Given the description of an element on the screen output the (x, y) to click on. 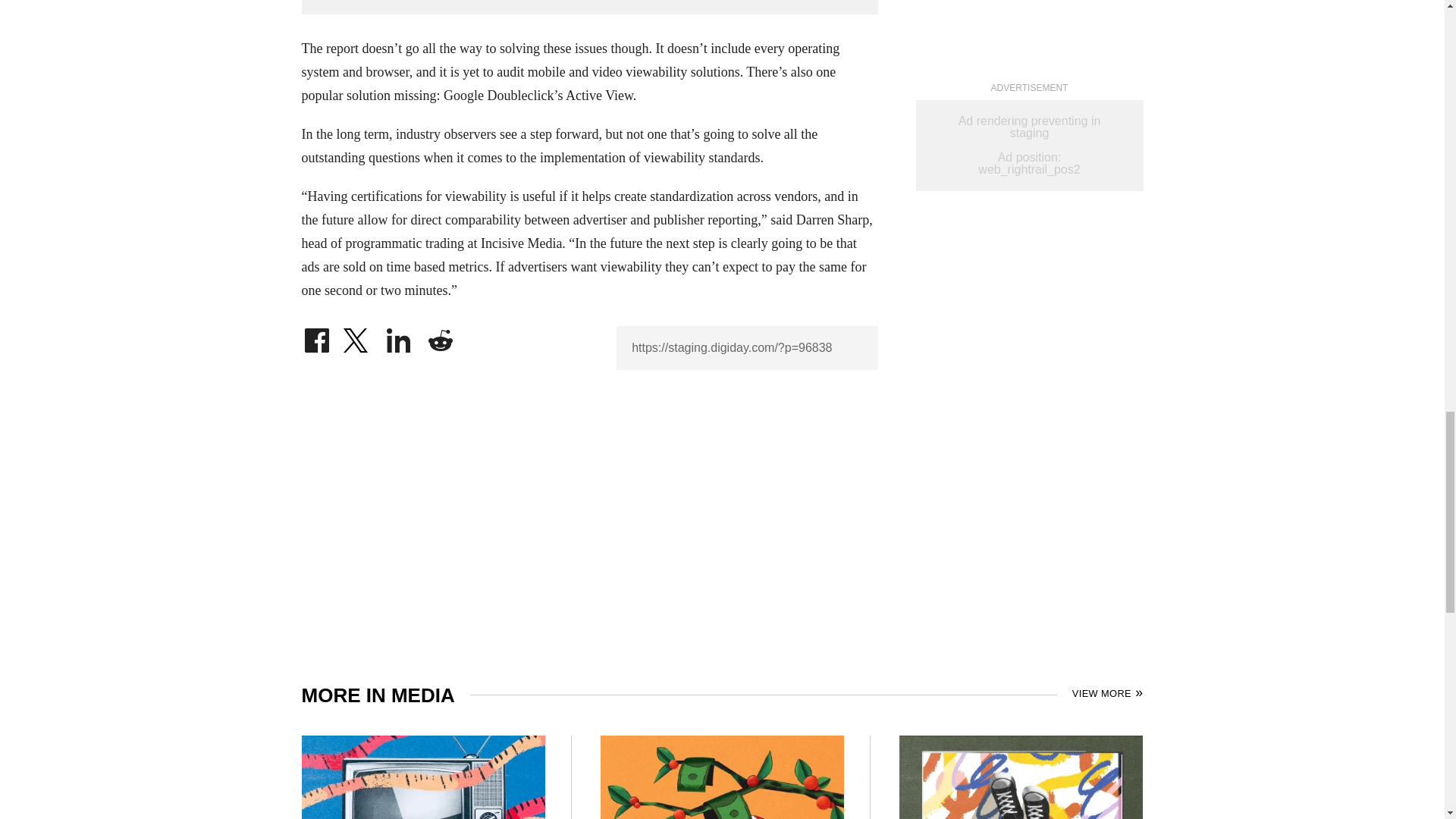
Share on Reddit (440, 336)
Share on LinkedIn (398, 336)
Share on Facebook (316, 336)
Share on Twitter (357, 336)
